Given the description of an element on the screen output the (x, y) to click on. 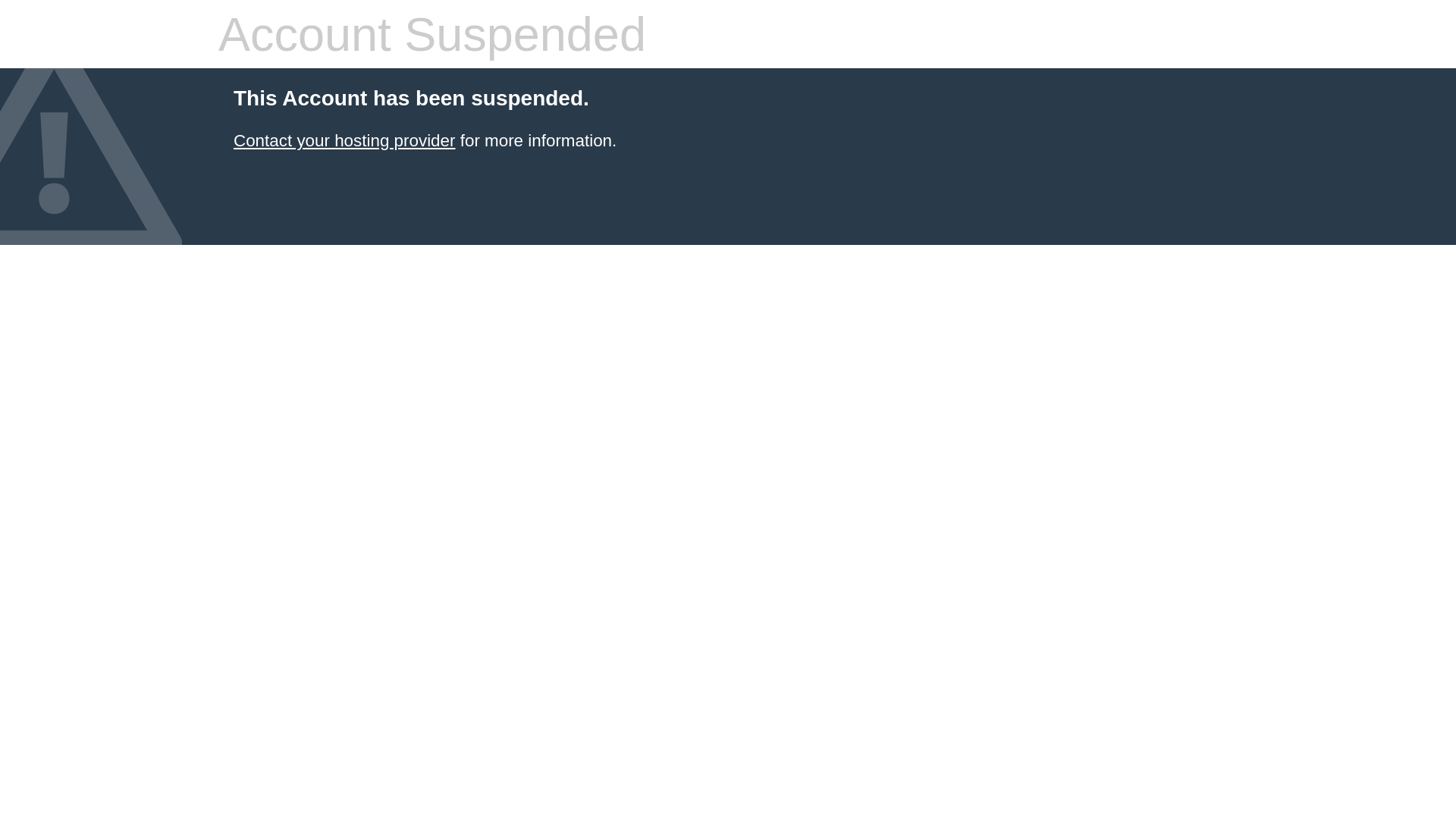
Contact your hosting provider Element type: text (344, 140)
